Given the description of an element on the screen output the (x, y) to click on. 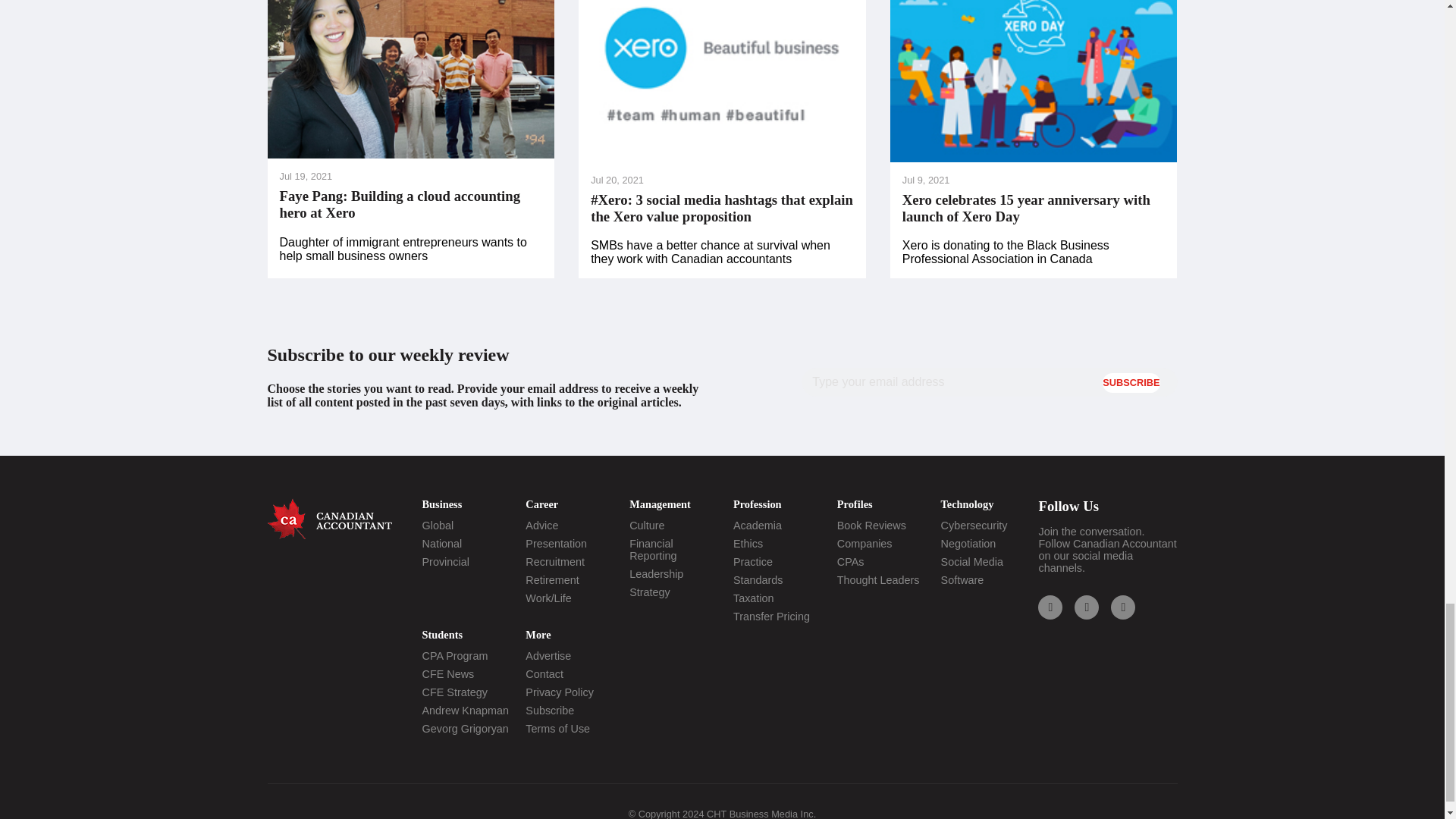
Recruitment (555, 562)
Provincial (445, 562)
Presentation (555, 543)
National (441, 543)
Advice (541, 525)
Culture (645, 525)
Financial Reporting (652, 549)
Retirement (551, 580)
Global (437, 525)
